Given the description of an element on the screen output the (x, y) to click on. 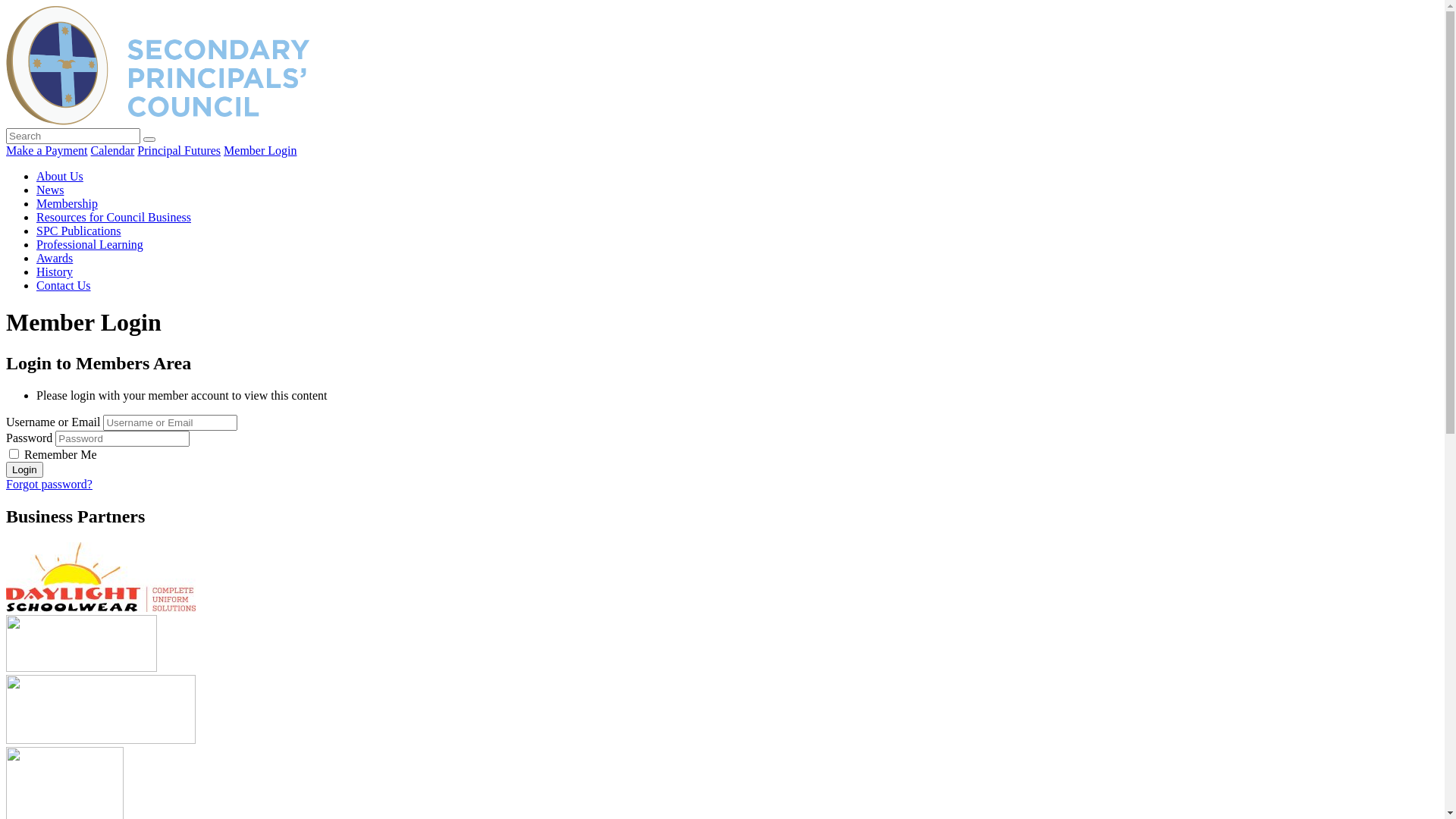
About Us Element type: text (59, 175)
Forgot password? Element type: text (49, 483)
Professional Learning Element type: text (89, 244)
History Element type: text (54, 271)
Principal Futures Element type: text (178, 150)
Member Login Element type: text (259, 150)
Awards Element type: text (54, 257)
Membership Element type: text (66, 203)
SPC Publications Element type: text (78, 230)
Resources for Council Business Element type: text (113, 216)
Contact Us Element type: text (63, 285)
Calendar Element type: text (112, 150)
News Element type: text (49, 189)
Make a Payment Element type: text (46, 150)
Login Element type: text (24, 469)
